Given the description of an element on the screen output the (x, y) to click on. 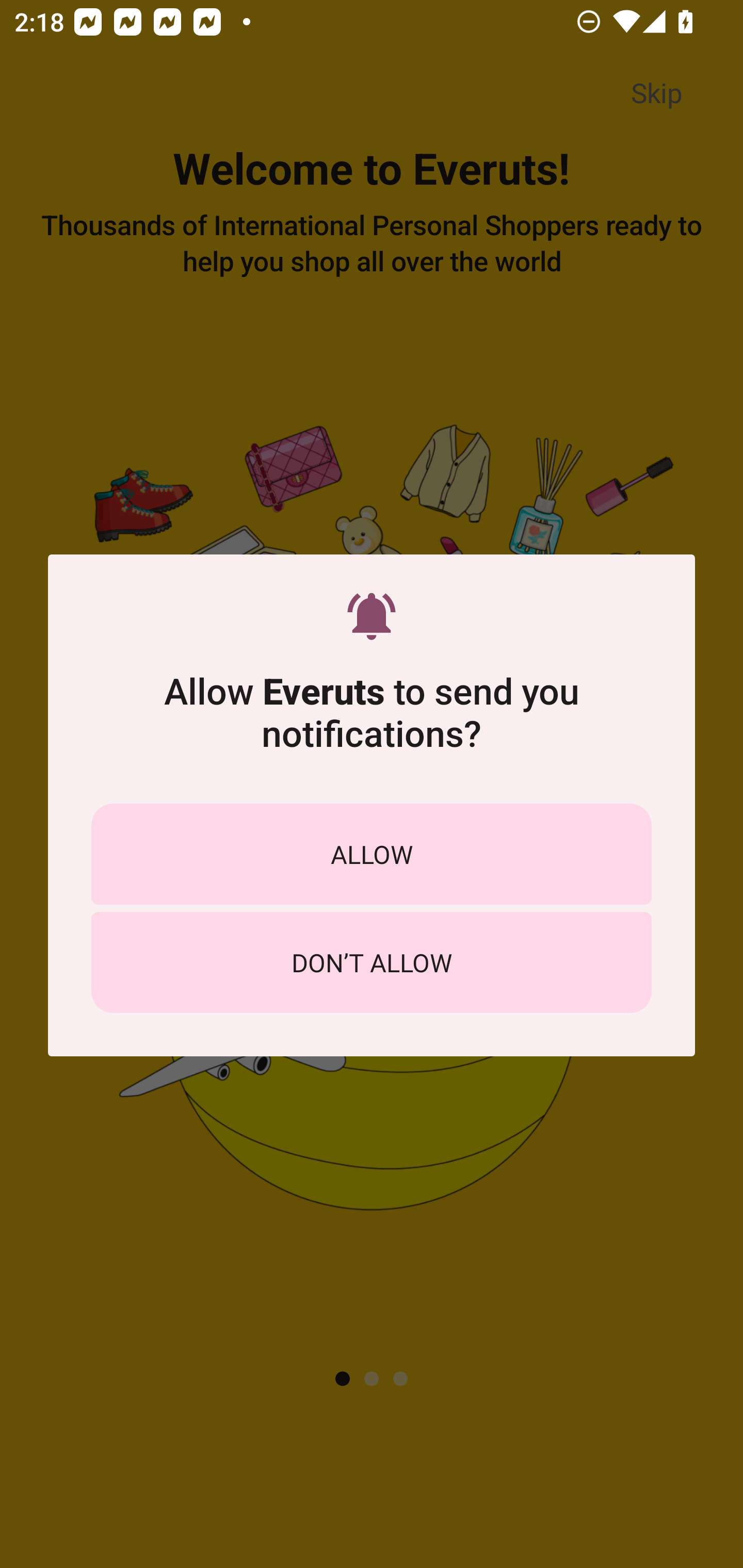
ALLOW (371, 853)
DON’T ALLOW (371, 962)
